Given the description of an element on the screen output the (x, y) to click on. 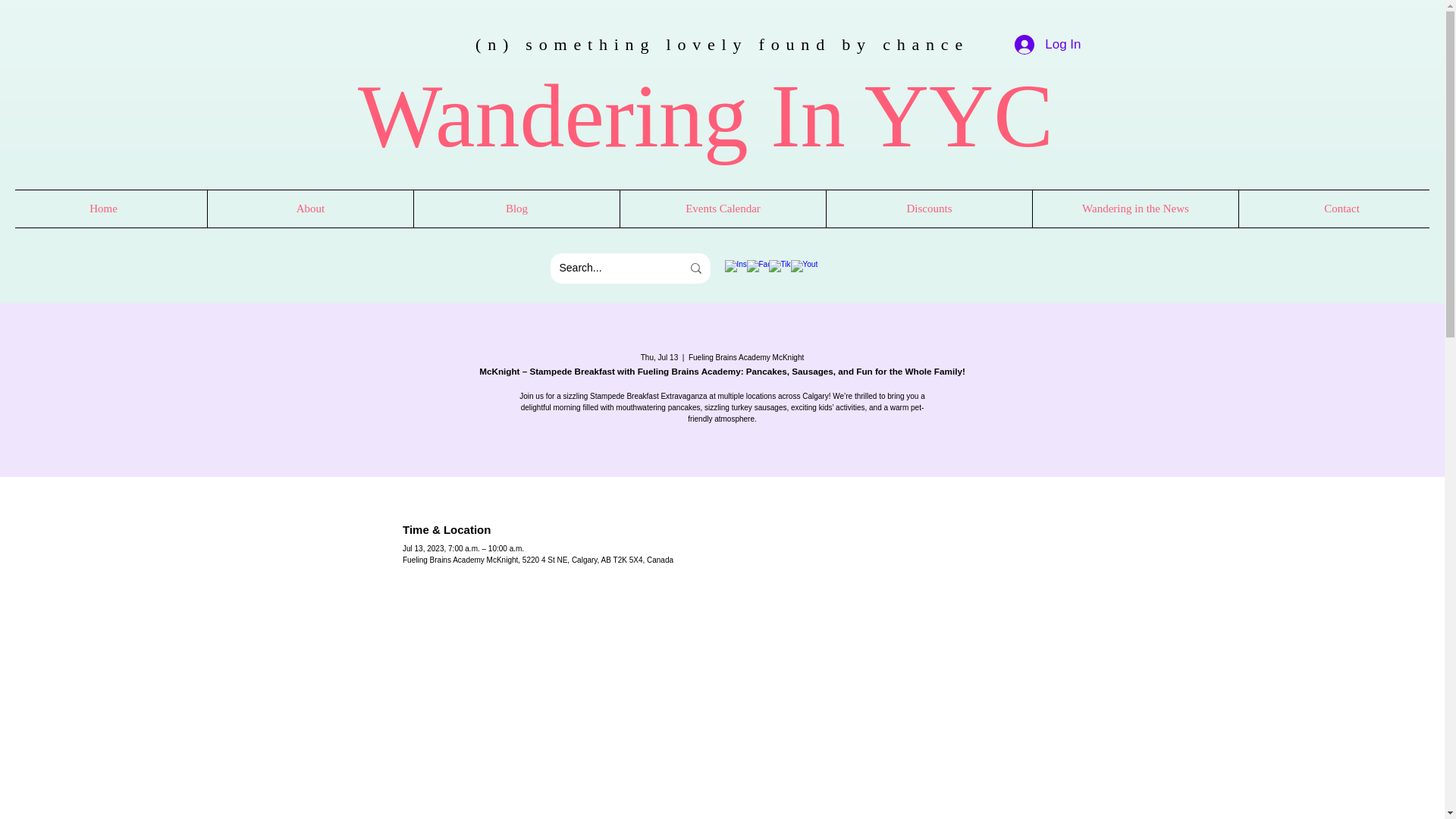
Log In (1047, 44)
Blog (516, 208)
Discounts (928, 208)
Wandering in the News (1135, 208)
Events Calendar (722, 208)
Home (103, 208)
Wandering In YYC (705, 116)
About (309, 208)
